Given the description of an element on the screen output the (x, y) to click on. 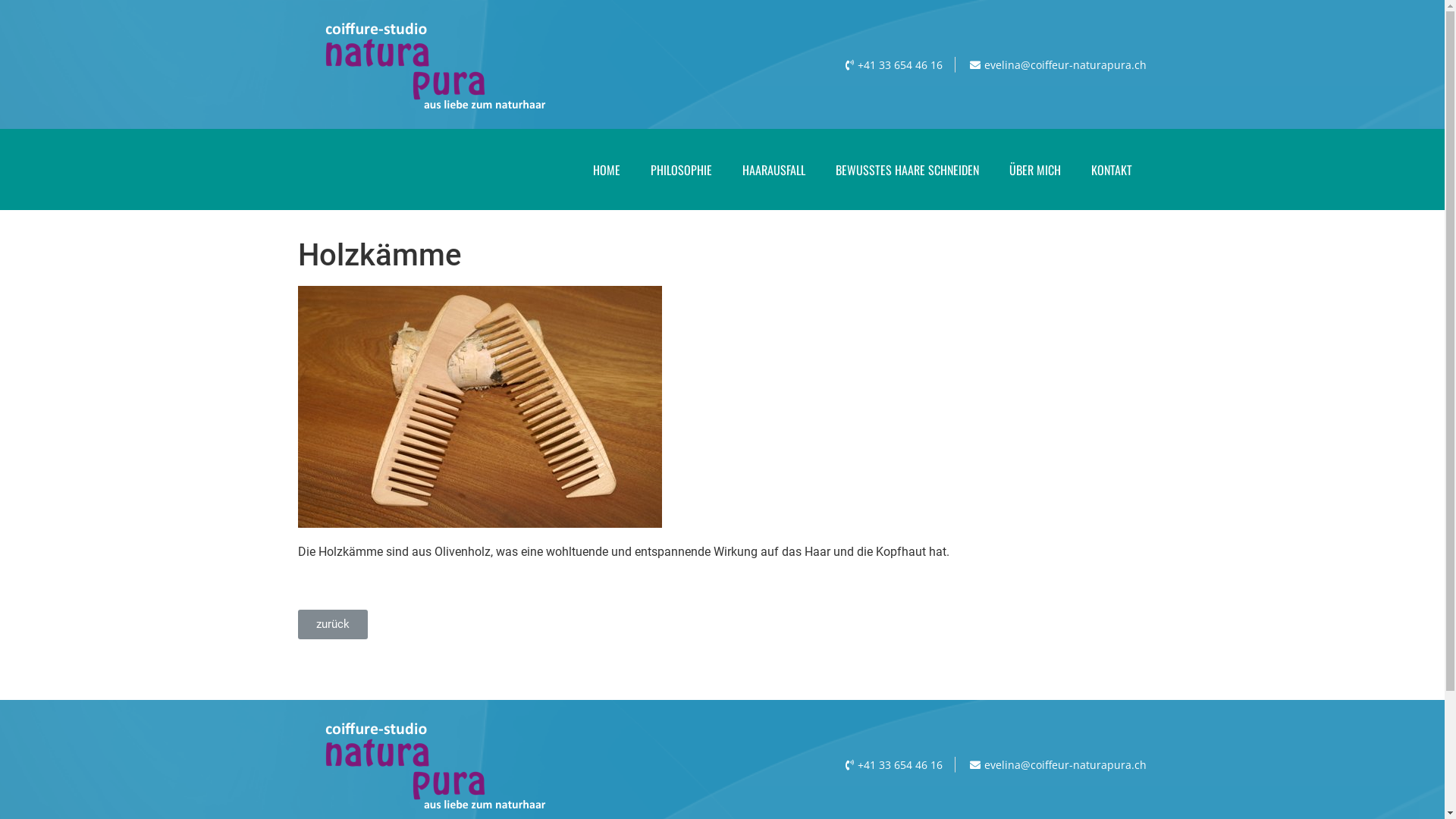
PHILOSOPHIE Element type: text (681, 168)
HAARAUSFALL Element type: text (772, 168)
HOME Element type: text (606, 168)
+41 33 654 46 16 Element type: text (891, 764)
+41 33 654 46 16 Element type: text (891, 64)
BEWUSSTES HAARE SCHNEIDEN Element type: text (907, 168)
KONTAKT Element type: text (1110, 168)
evelina@coiffeur-naturapura.ch Element type: text (1057, 64)
evelina@coiffeur-naturapura.ch Element type: text (1057, 764)
